Given the description of an element on the screen output the (x, y) to click on. 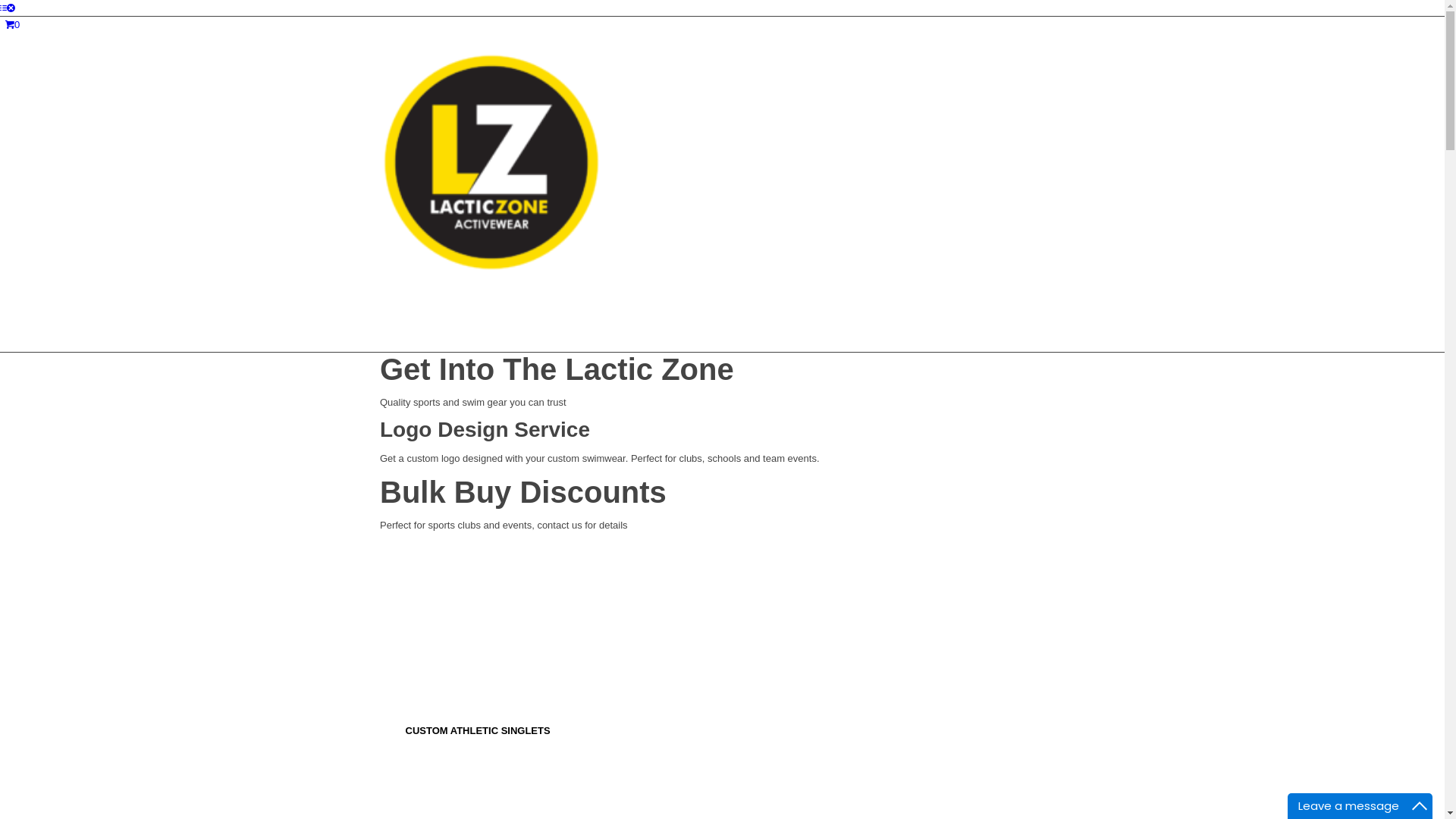
HOME Element type: text (396, 423)
Maximize Element type: hover (1419, 806)
0 Element type: text (12, 24)
PRODUCTS Element type: text (409, 575)
CUSTOM ATHLETIC SINGLETS Element type: text (476, 730)
